Given the description of an element on the screen output the (x, y) to click on. 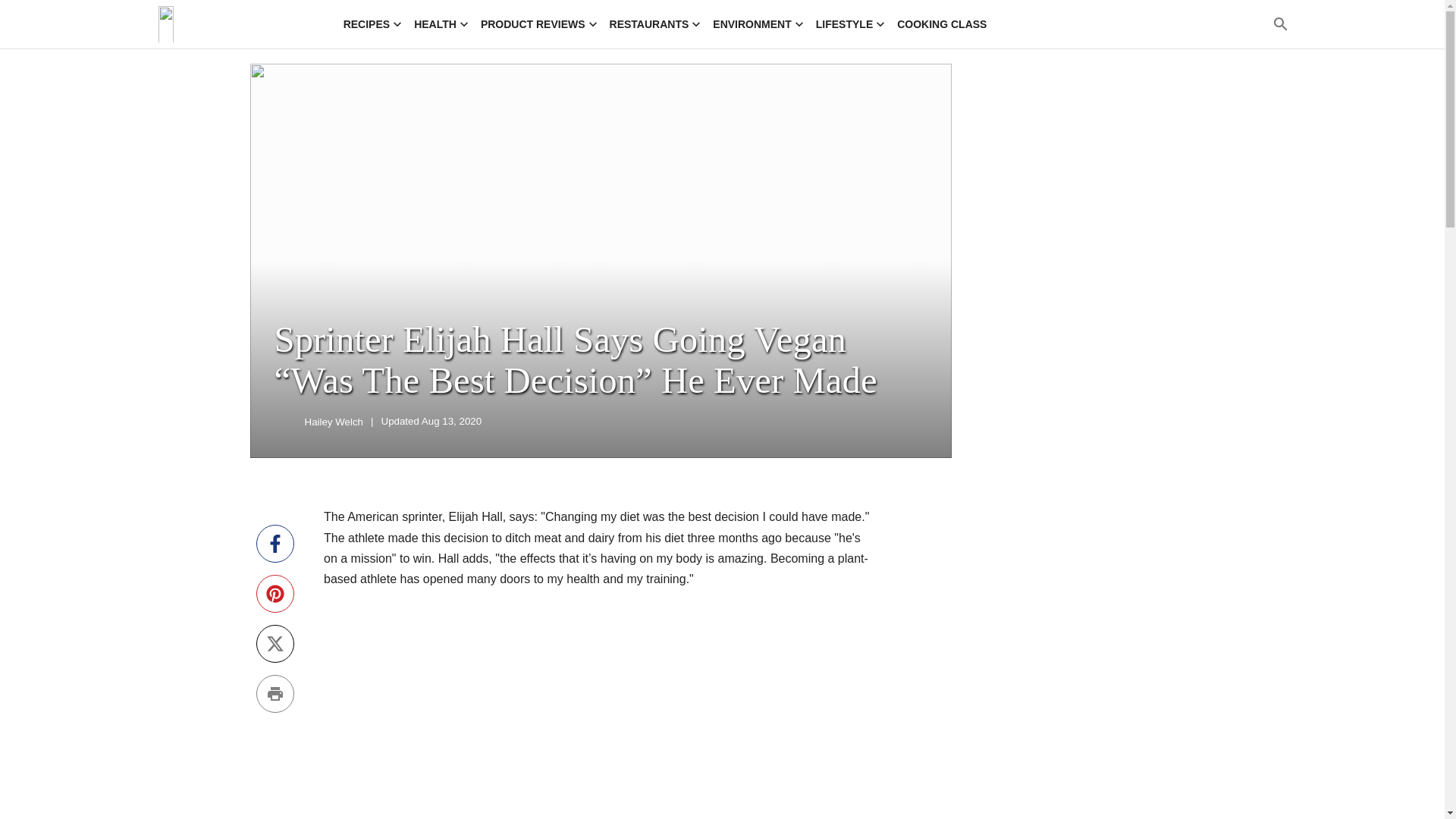
HEALTH (440, 24)
ENVIRONMENT (757, 24)
RECIPES (372, 24)
COOKING CLASS (941, 24)
LIFESTYLE (850, 24)
Hailey Welch (334, 421)
Hailey Welch (286, 421)
PRODUCT REVIEWS (539, 24)
RESTAURANTS (655, 24)
